Given the description of an element on the screen output the (x, y) to click on. 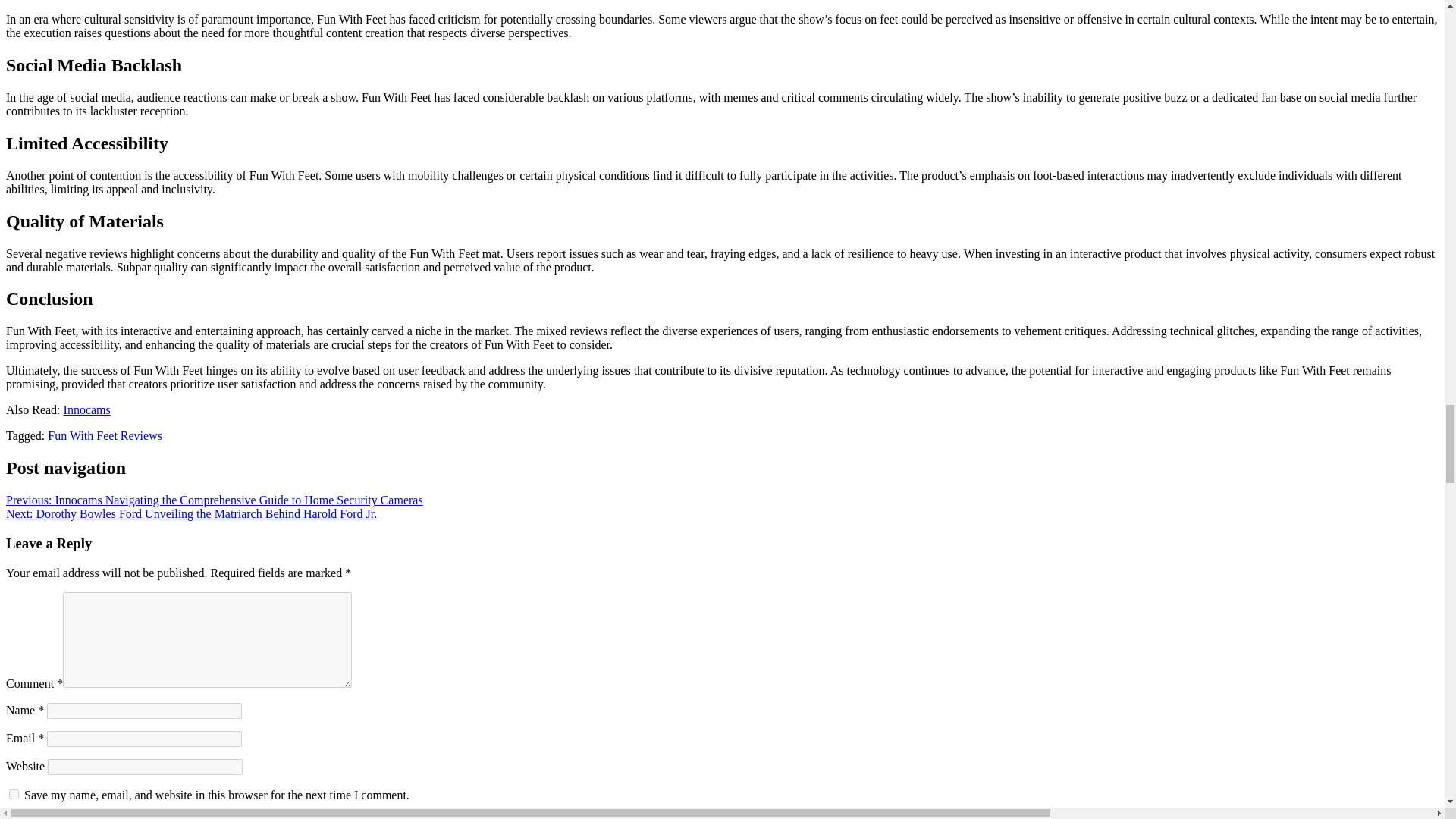
Post Comment (44, 816)
yes (13, 794)
